Given the description of an element on the screen output the (x, y) to click on. 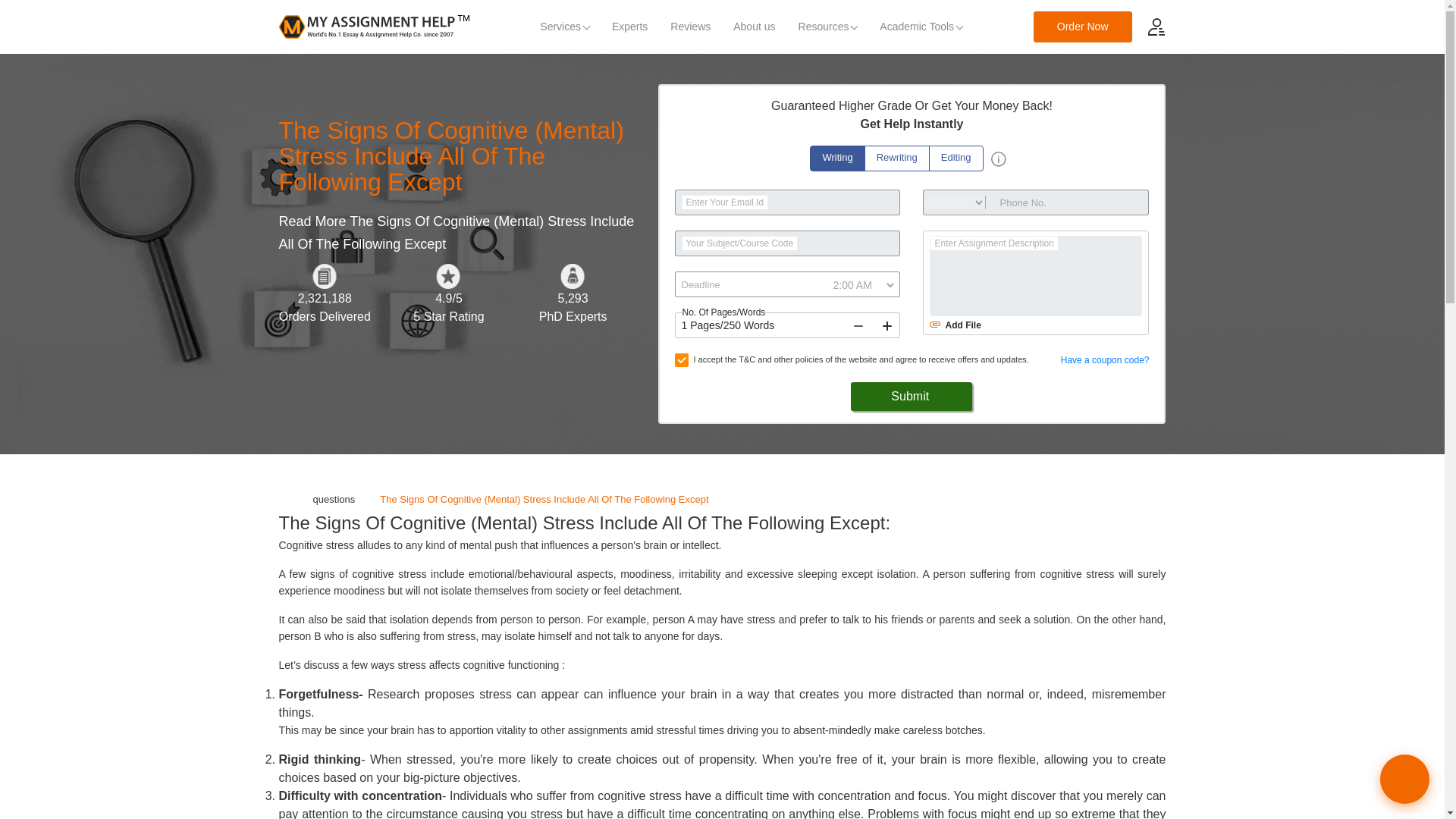
Reviews (690, 26)
Info (998, 159)
Services (563, 26)
About us (754, 26)
menu (1156, 26)
Experts (629, 26)
